Given the description of an element on the screen output the (x, y) to click on. 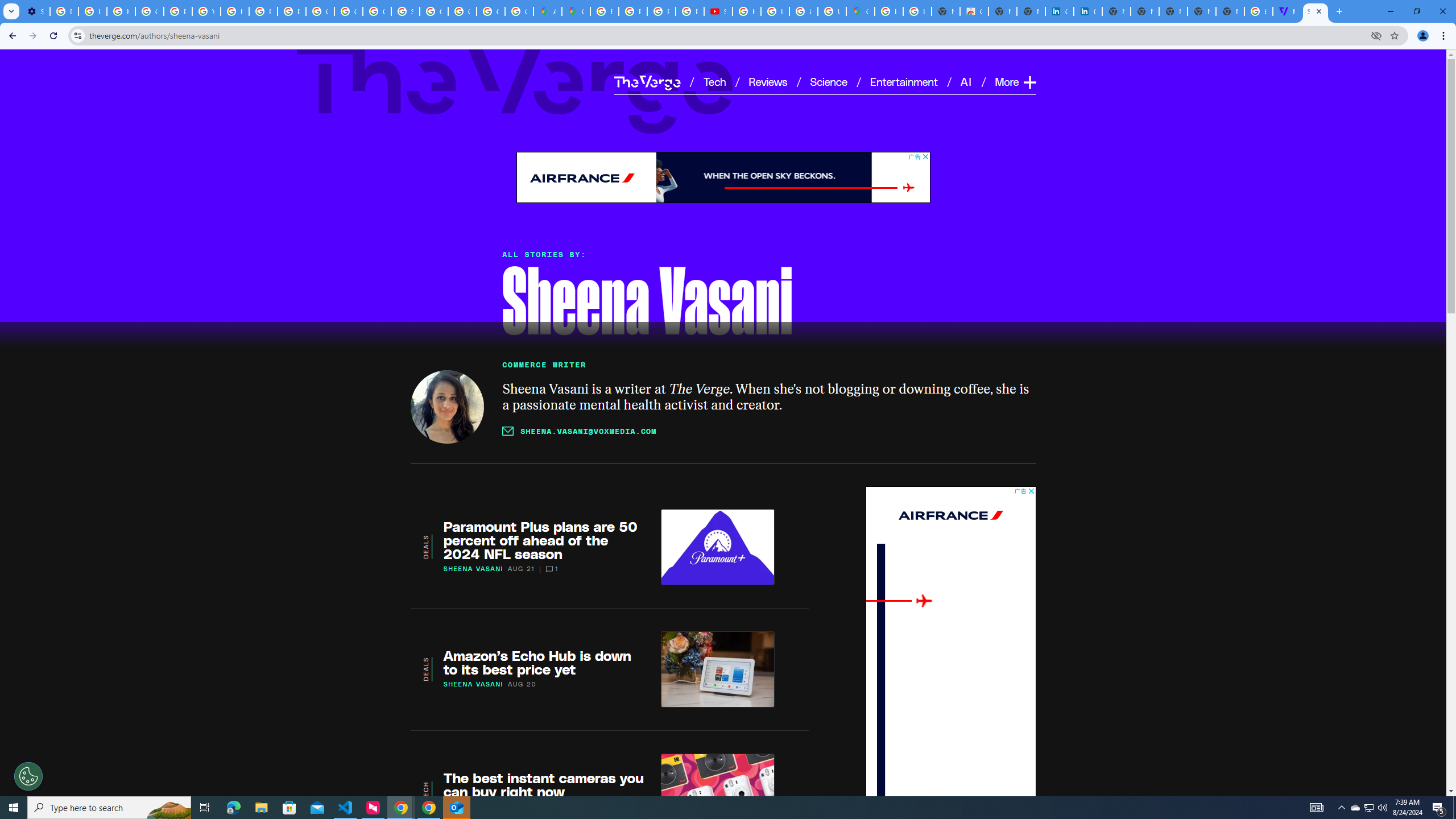
More Expand (1015, 81)
Settings - Customize profile (35, 11)
Cookie Policy | LinkedIn (1088, 11)
Google Maps (575, 11)
The Verge homepage The Verge (646, 81)
Entertainment (904, 81)
